Given the description of an element on the screen output the (x, y) to click on. 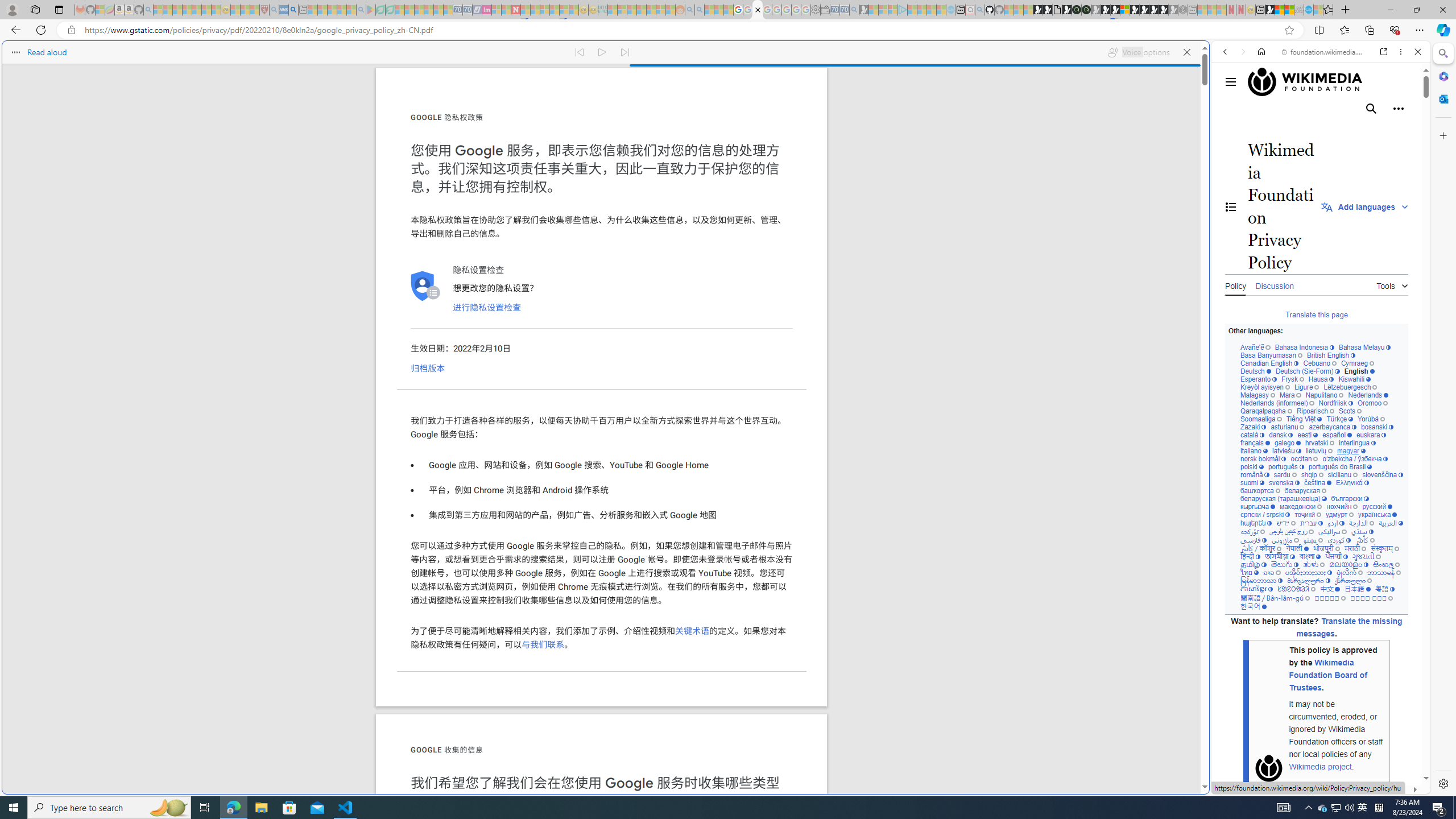
sicilianu (1342, 474)
